Given the description of an element on the screen output the (x, y) to click on. 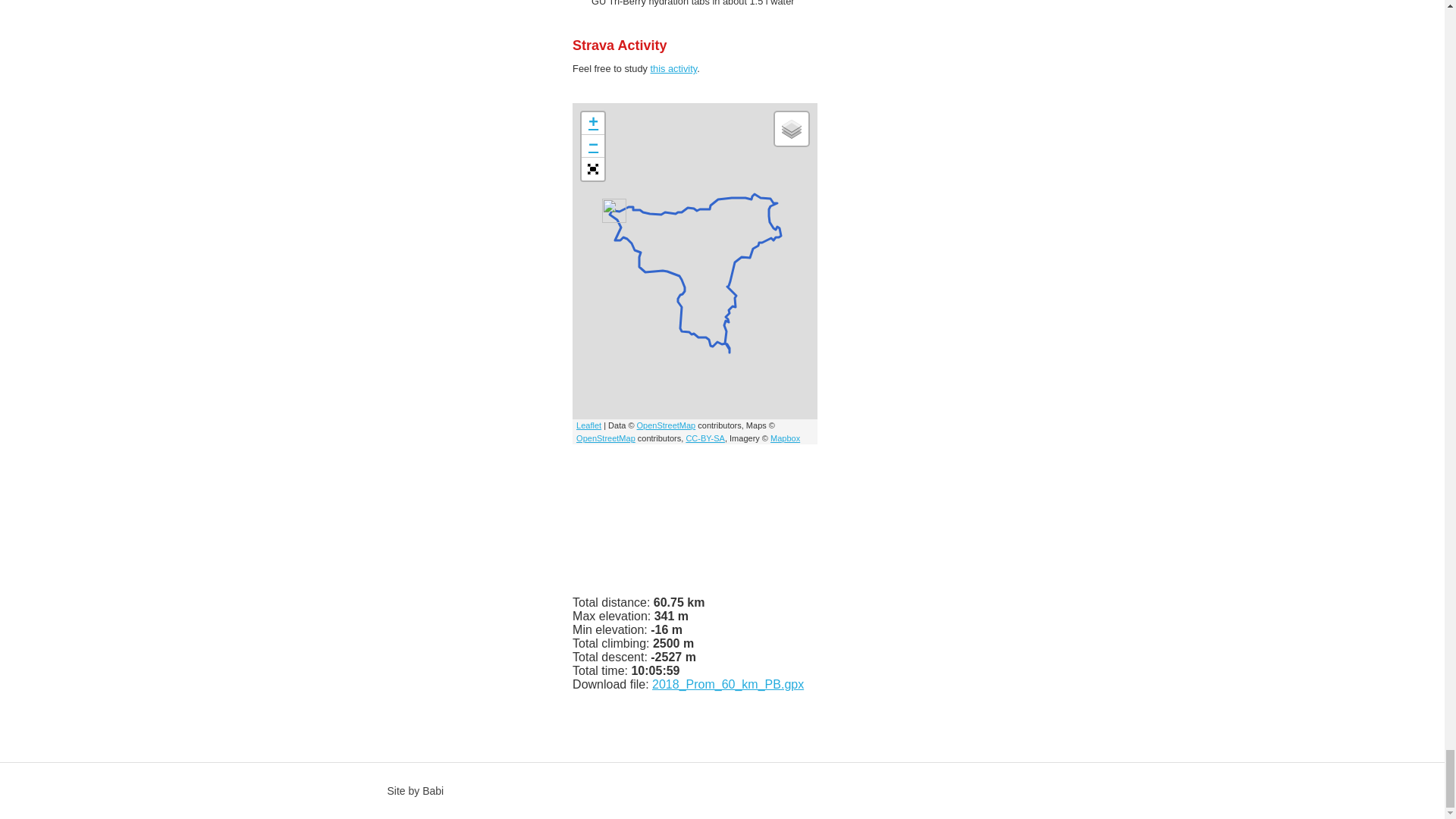
Layers (791, 128)
2018 Prom 60 km Race (673, 68)
Zoom out (592, 146)
Zoom in (592, 123)
A JS library for interactive maps (588, 424)
Full Screen (592, 169)
this activity (673, 68)
